Given the description of an element on the screen output the (x, y) to click on. 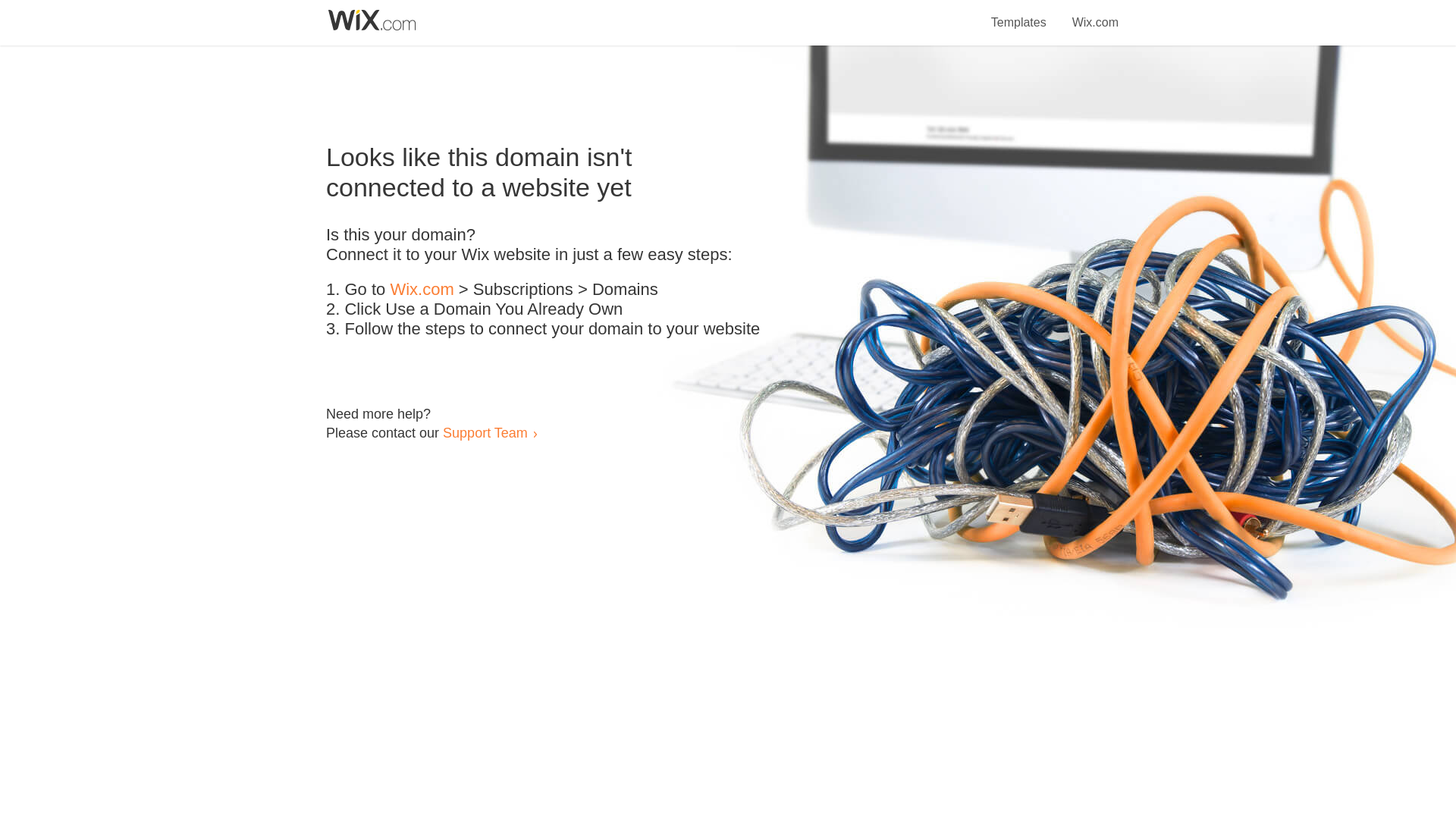
Templates (1018, 14)
Support Team (484, 432)
Wix.com (421, 289)
Wix.com (1095, 14)
